Given the description of an element on the screen output the (x, y) to click on. 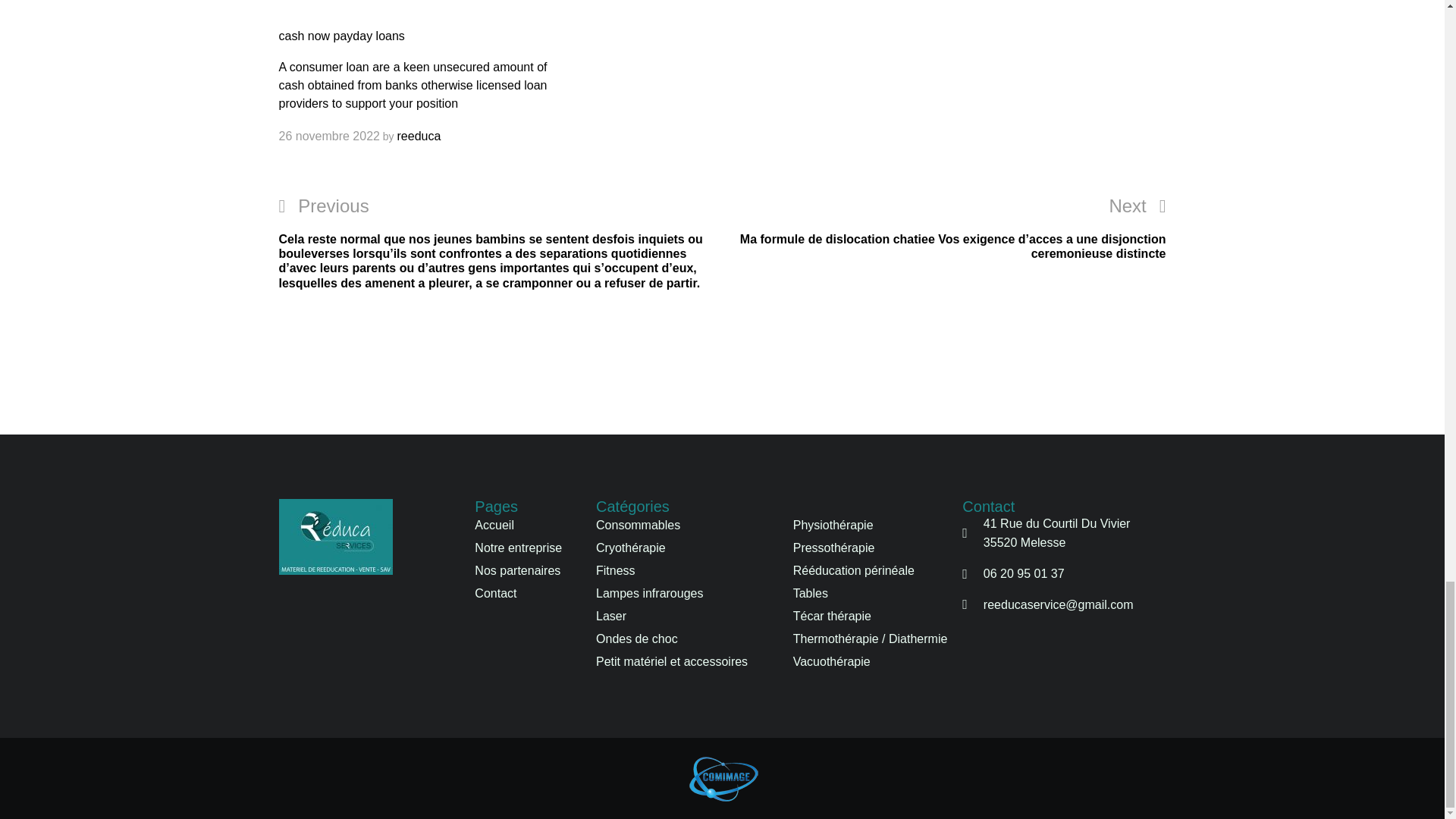
cash now payday loans (341, 34)
LOGO OK reeduca (336, 536)
